Given the description of an element on the screen output the (x, y) to click on. 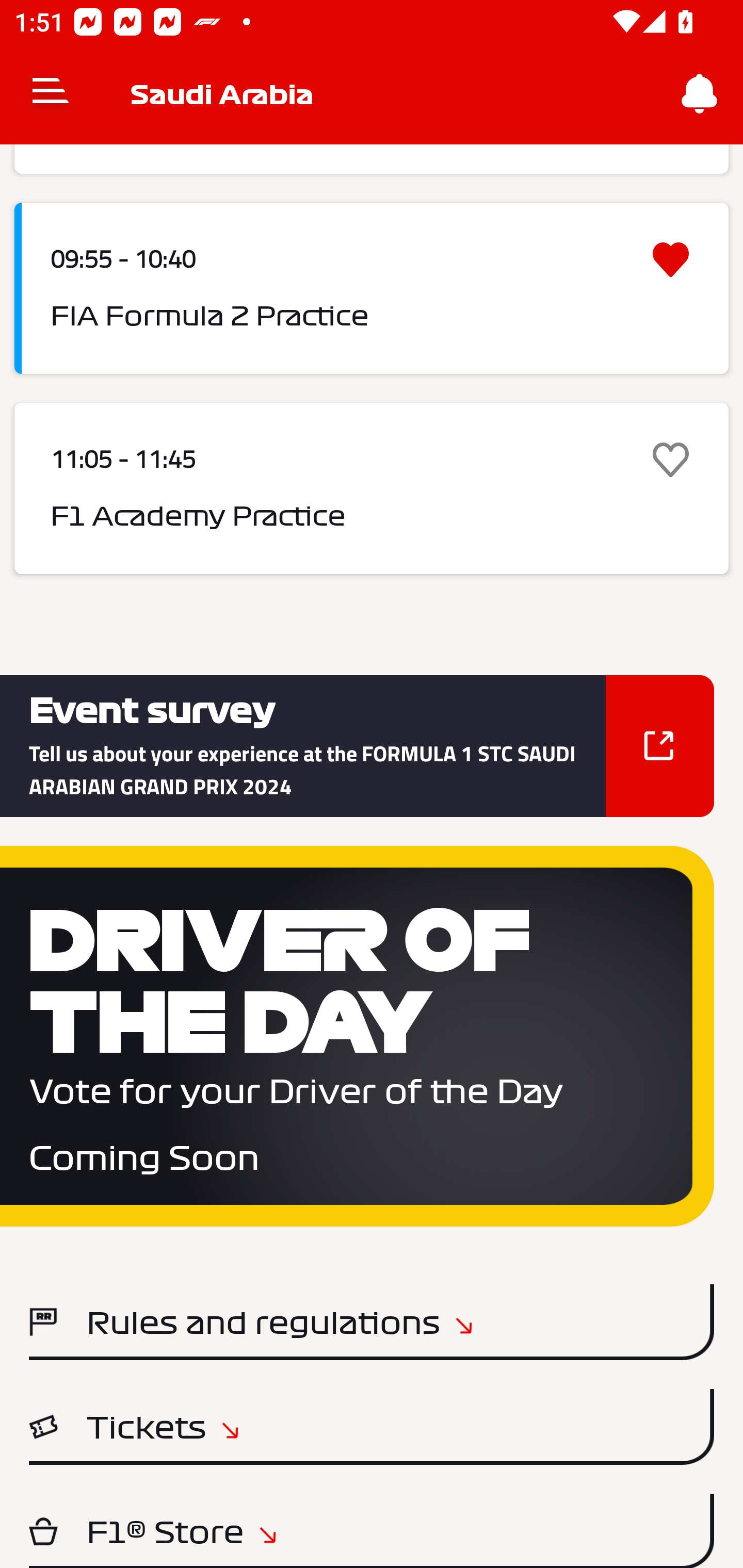
Navigate up (50, 93)
Notifications (699, 93)
09:55 - 10:40 FIA Formula 2 Practice (371, 287)
11:05 - 11:45 F1 Academy Practice (371, 487)
Rules and regulations (371, 1321)
Tickets (371, 1426)
F1® Store (371, 1531)
